Given the description of an element on the screen output the (x, y) to click on. 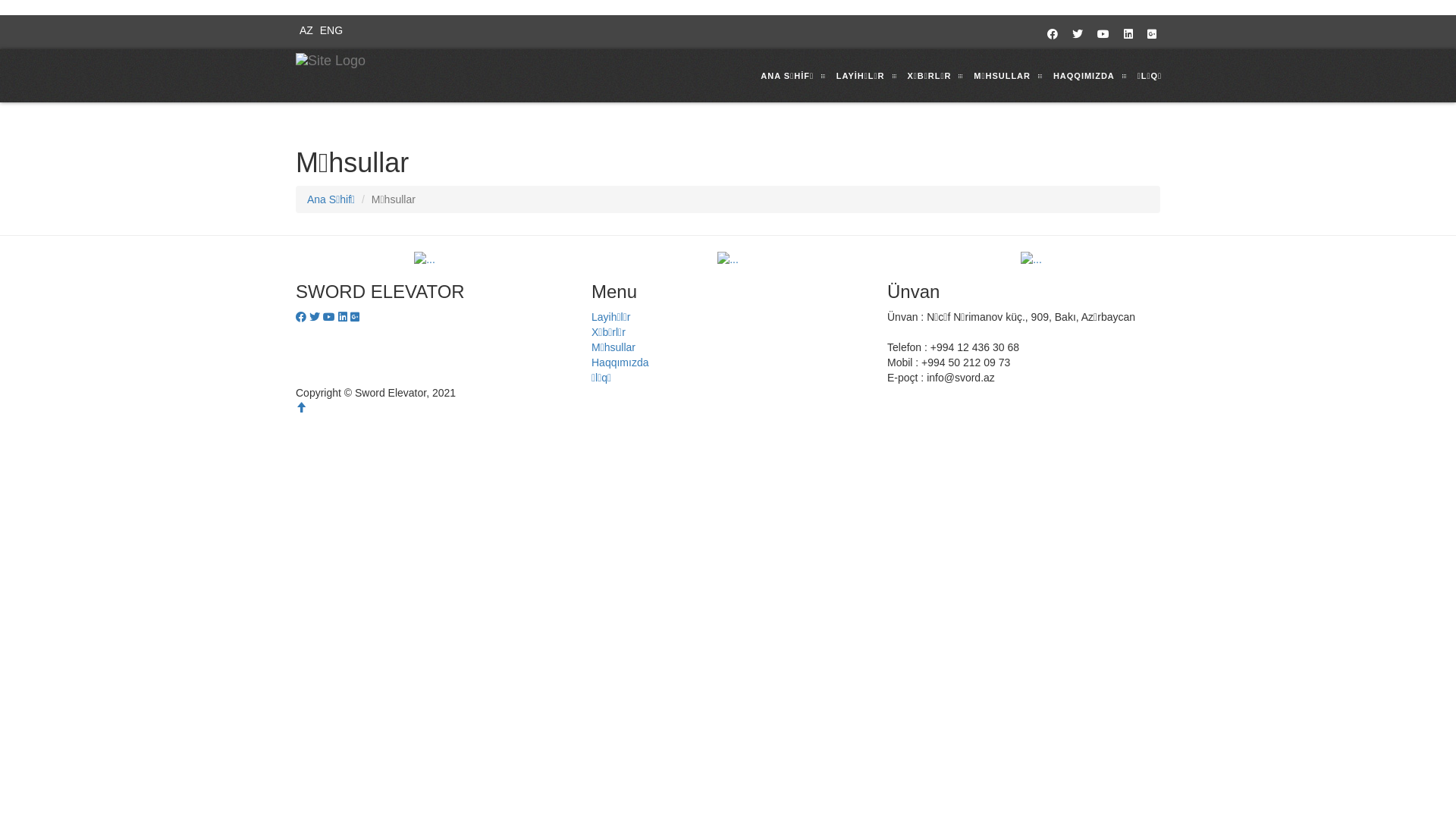
HAQQIMIZDA Element type: text (1083, 75)
AZ Element type: text (304, 30)
ENG Element type: text (329, 30)
